Given the description of an element on the screen output the (x, y) to click on. 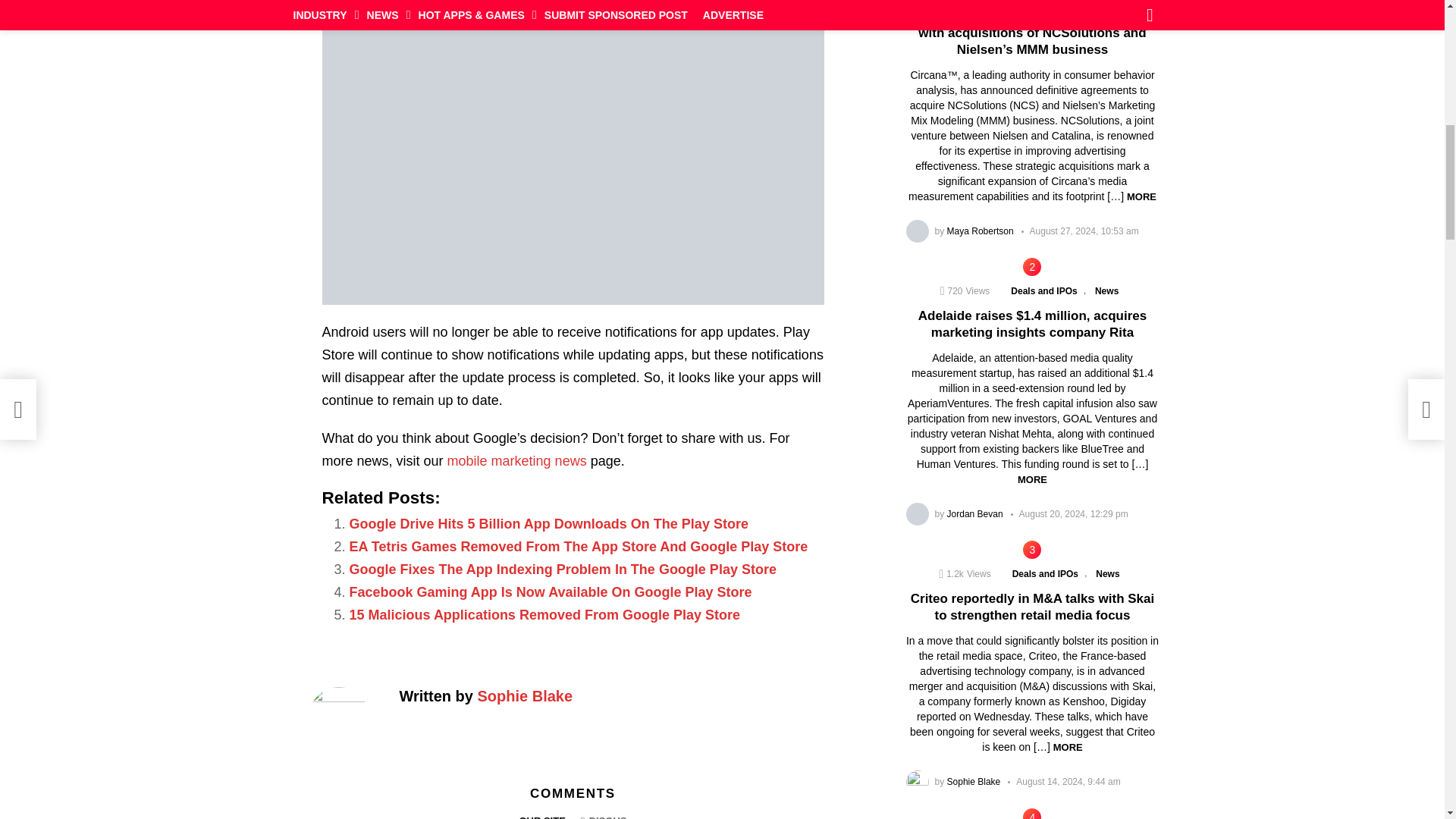
Facebook Gaming App Is Now Available On Google Play Store (550, 591)
Google Drive Hits 5 Billion App Downloads On The Play Store (548, 523)
15 Malicious Applications Removed From Google Play Store (544, 614)
